Given the description of an element on the screen output the (x, y) to click on. 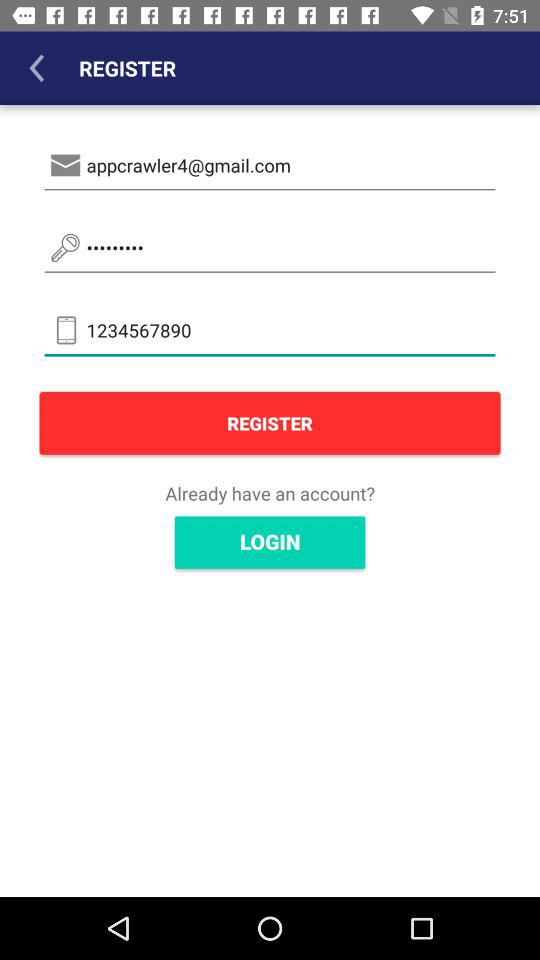
jump to the already have an item (269, 493)
